Given the description of an element on the screen output the (x, y) to click on. 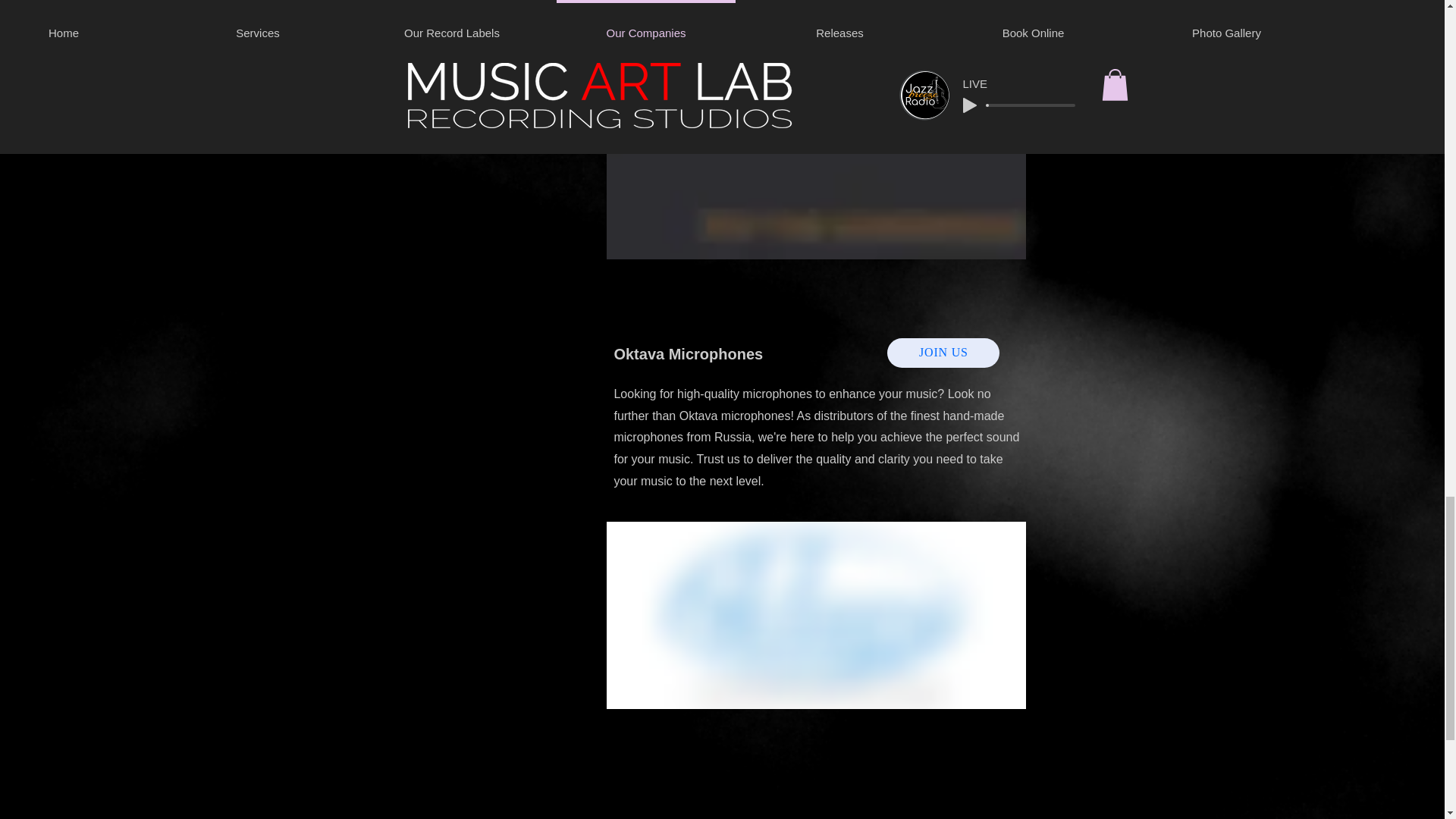
JOIN US (942, 352)
